Given the description of an element on the screen output the (x, y) to click on. 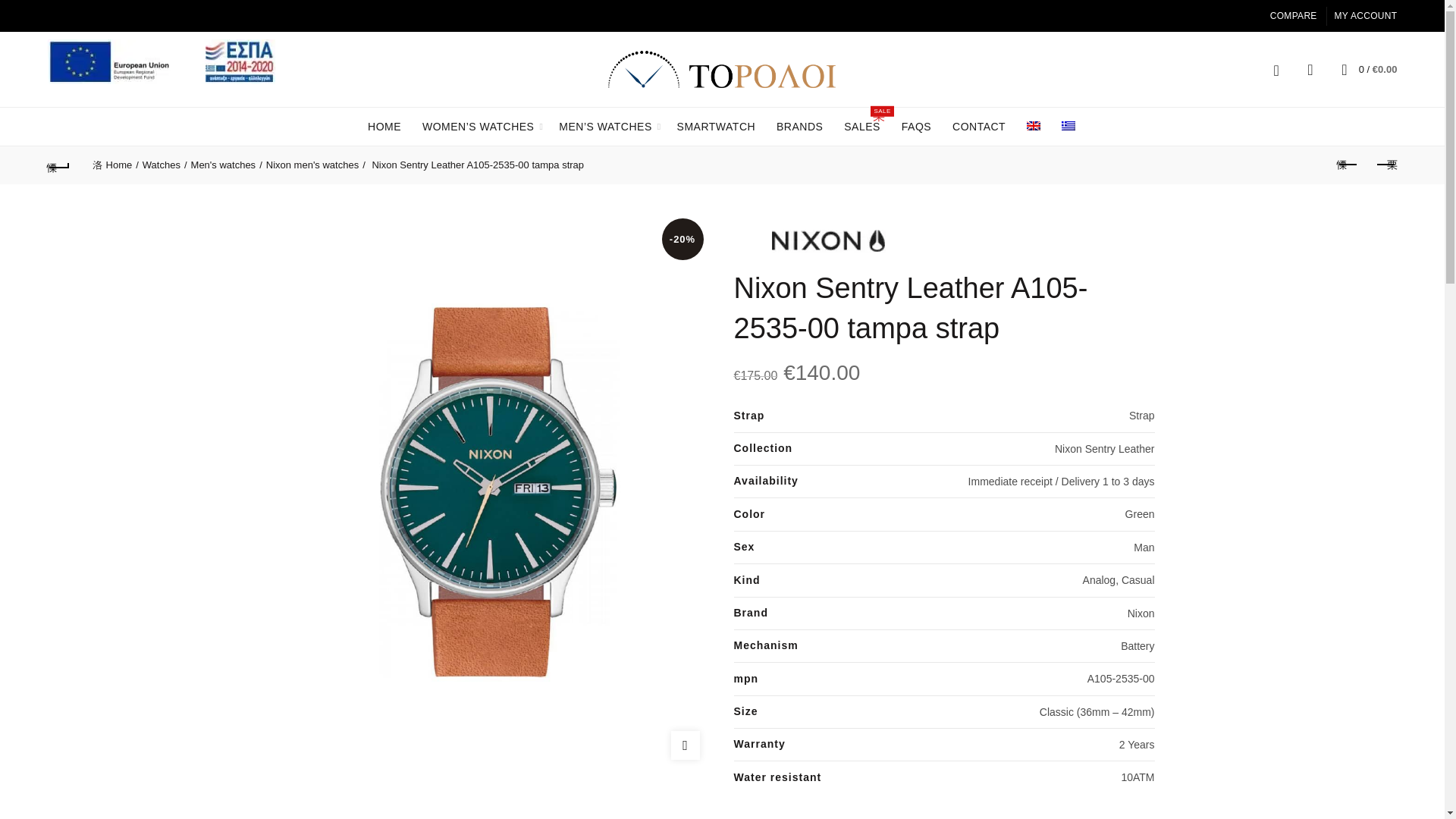
Nixon (828, 240)
